Given the description of an element on the screen output the (x, y) to click on. 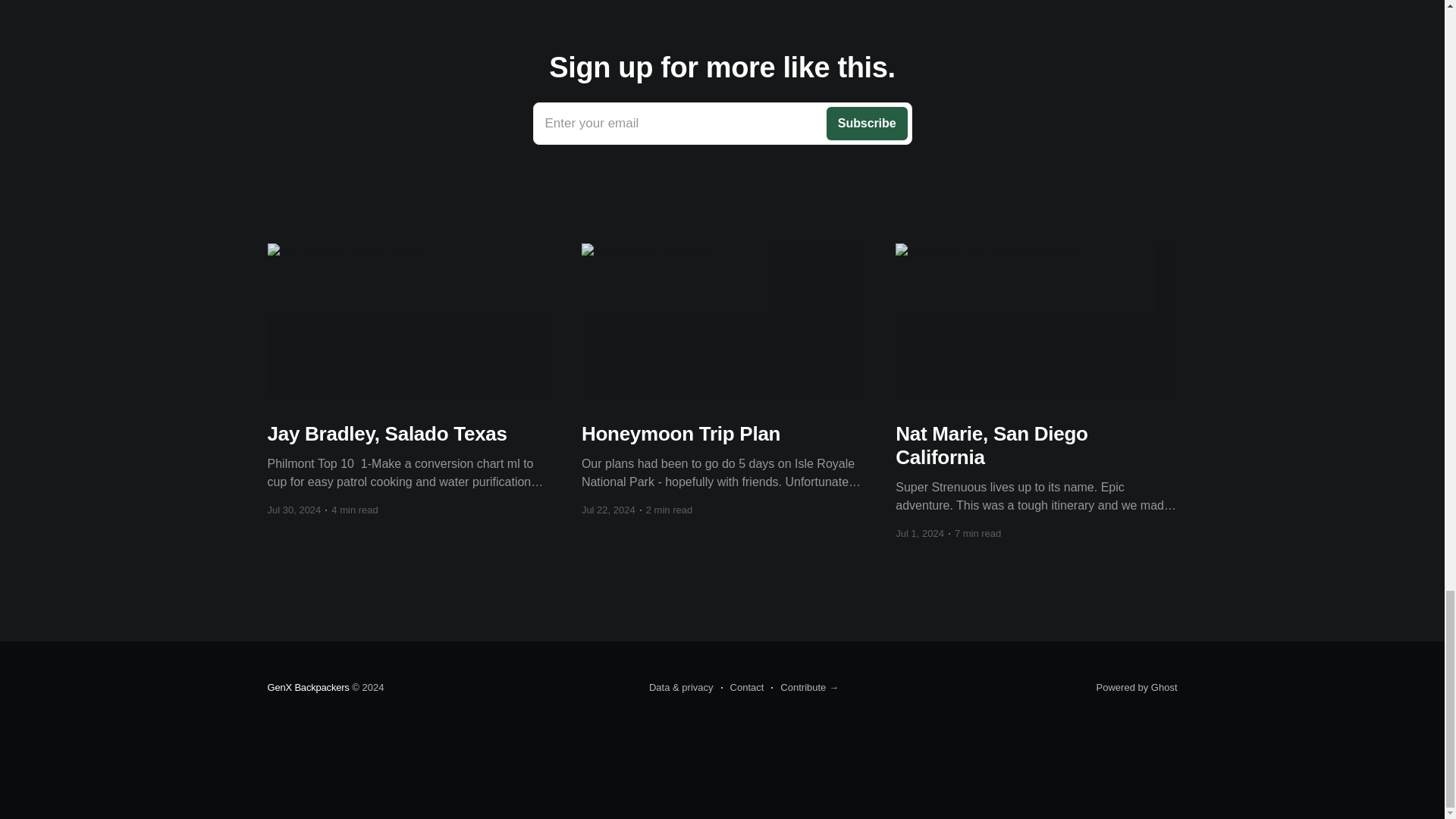
Powered by Ghost (721, 123)
GenX Backpackers (1136, 686)
Contact (307, 686)
